Given the description of an element on the screen output the (x, y) to click on. 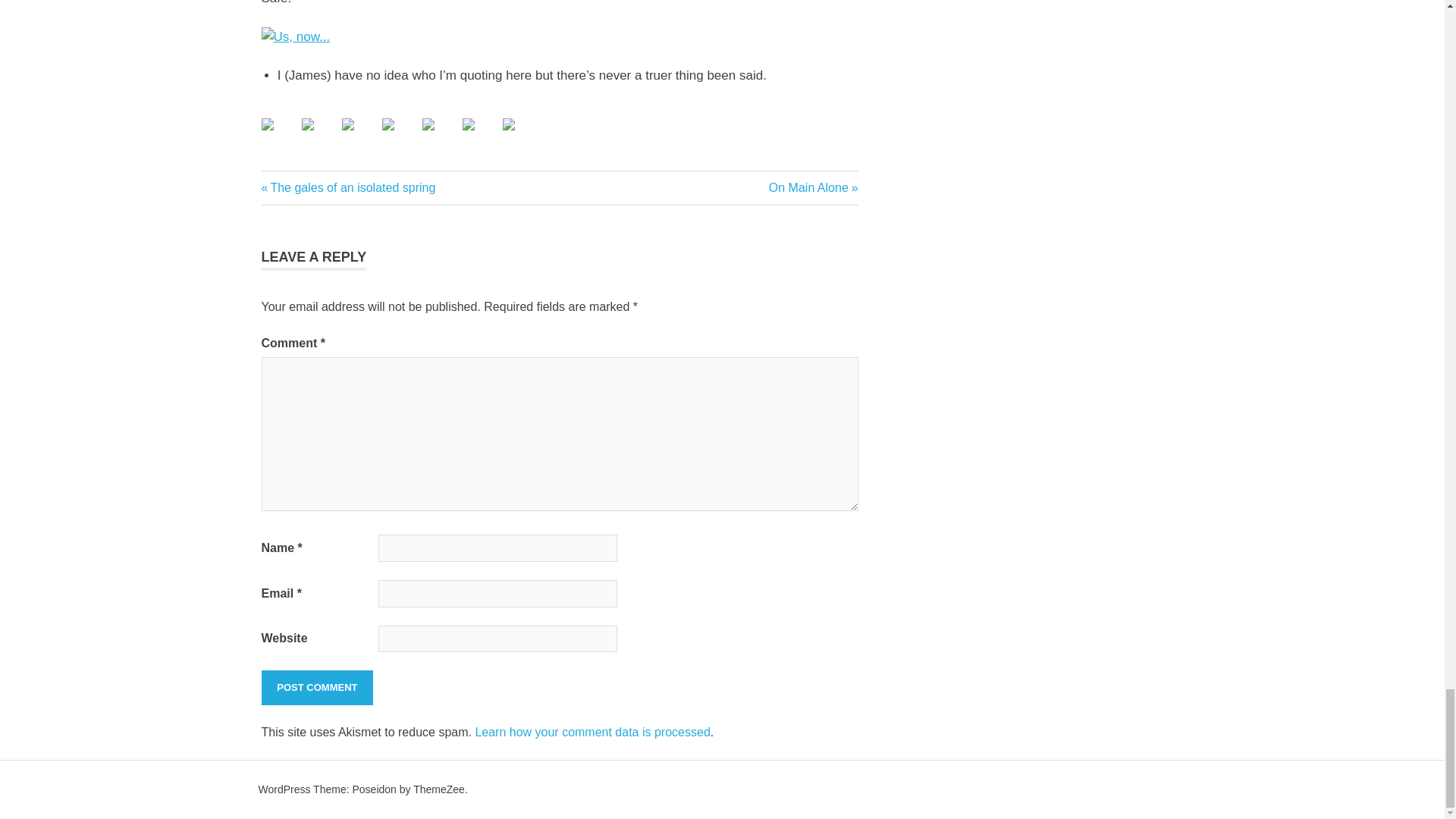
Share on Twitter (319, 135)
Post Comment (316, 687)
Share on Linkedin (427, 123)
Pin it with Pinterest (347, 187)
Share on Reddit (400, 135)
Pin it with Pinterest (358, 135)
Share on tumblr (387, 123)
Learn how your comment data is processed (813, 187)
Share on Facebook (481, 135)
Share on Reddit (592, 731)
Share on Linkedin (278, 135)
Post Comment (346, 123)
Share on Facebook (440, 135)
